Given the description of an element on the screen output the (x, y) to click on. 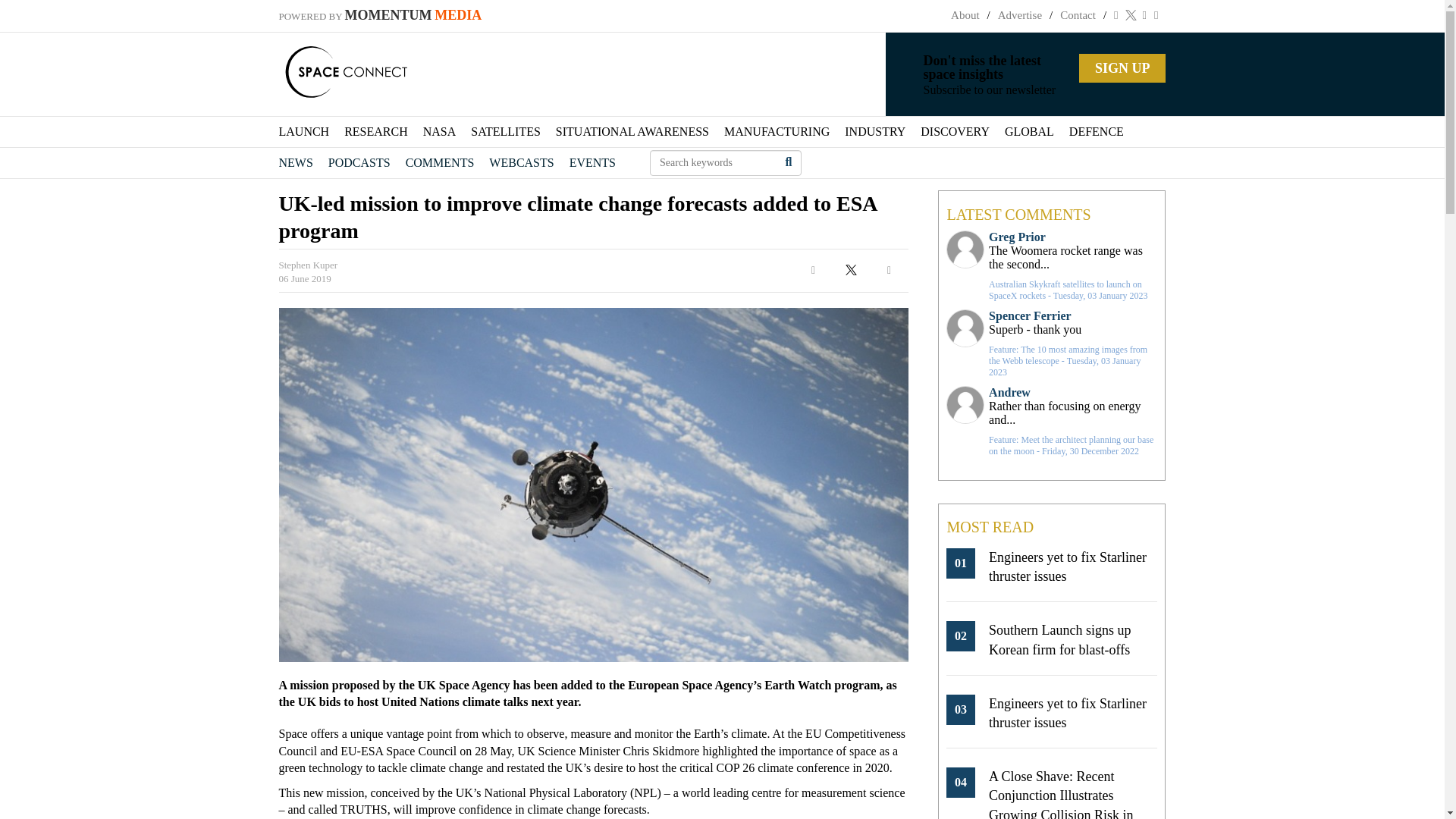
About (964, 15)
Contact (1077, 15)
Advertise (1019, 15)
POWERED BY MOMENTUM MEDIA (380, 15)
